Given the description of an element on the screen output the (x, y) to click on. 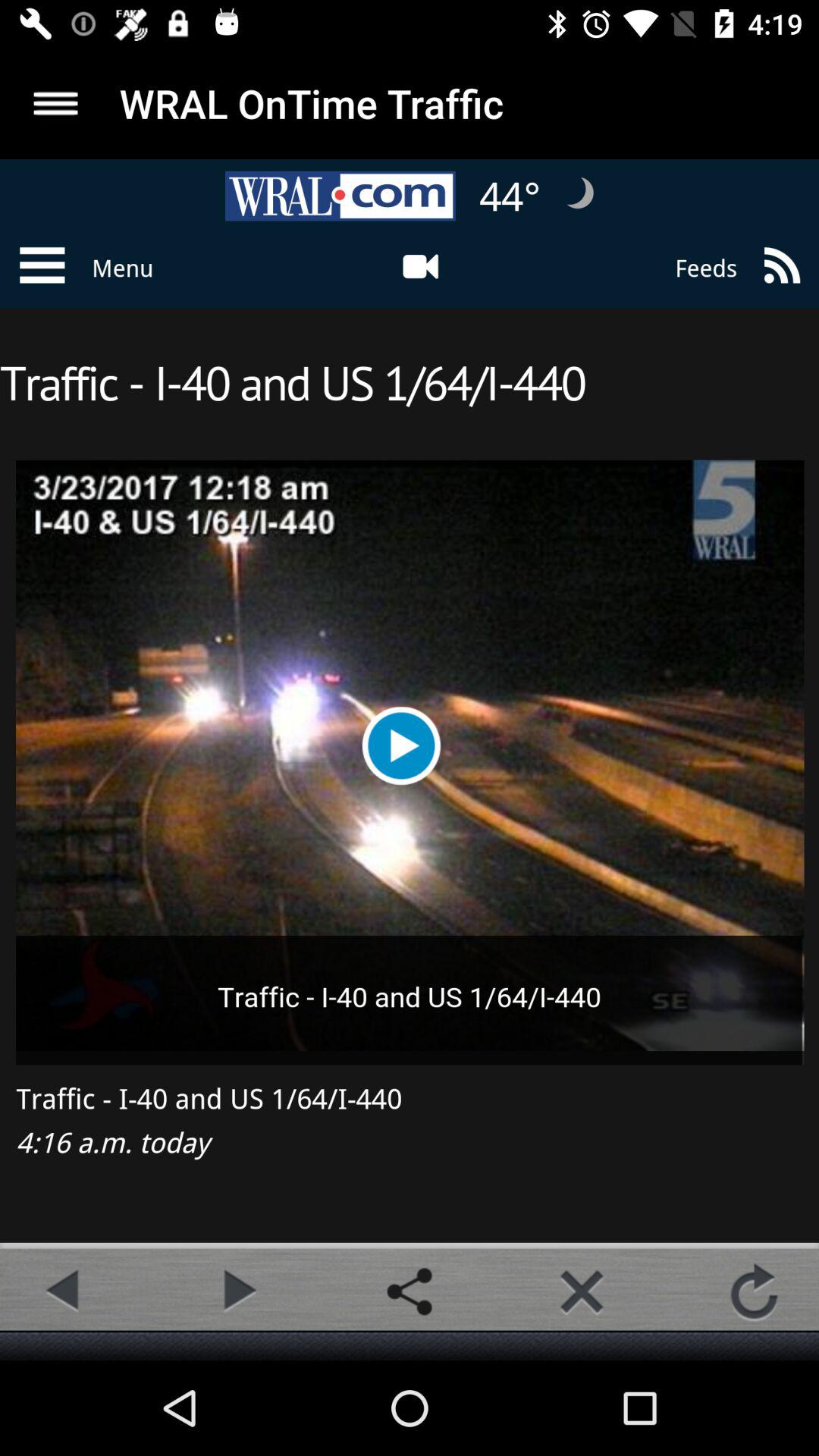
close (581, 1291)
